Given the description of an element on the screen output the (x, y) to click on. 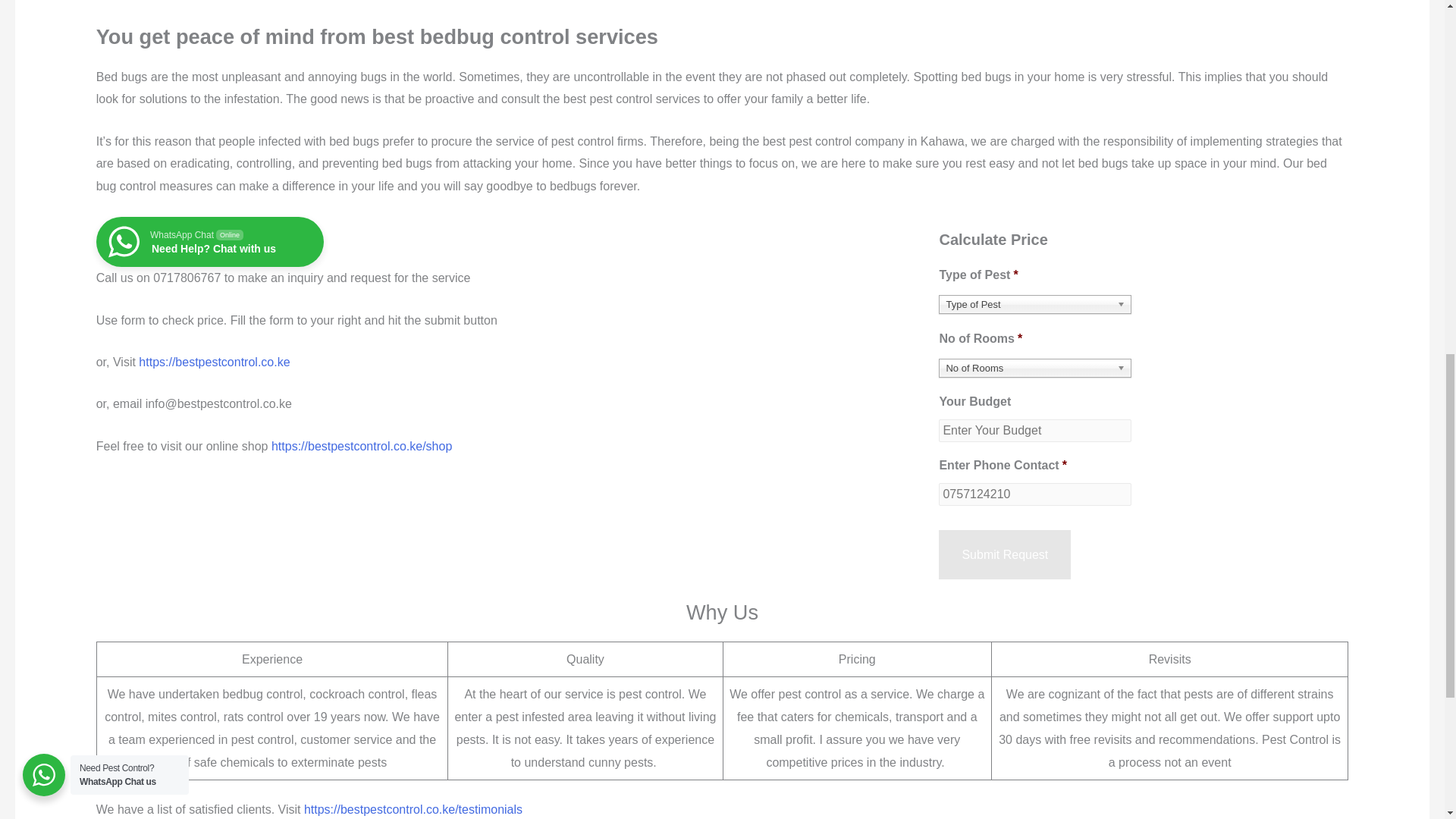
Submit Request (1004, 554)
Submit Request (1004, 554)
No of Rooms (1035, 367)
Type of Pest (209, 241)
